Given the description of an element on the screen output the (x, y) to click on. 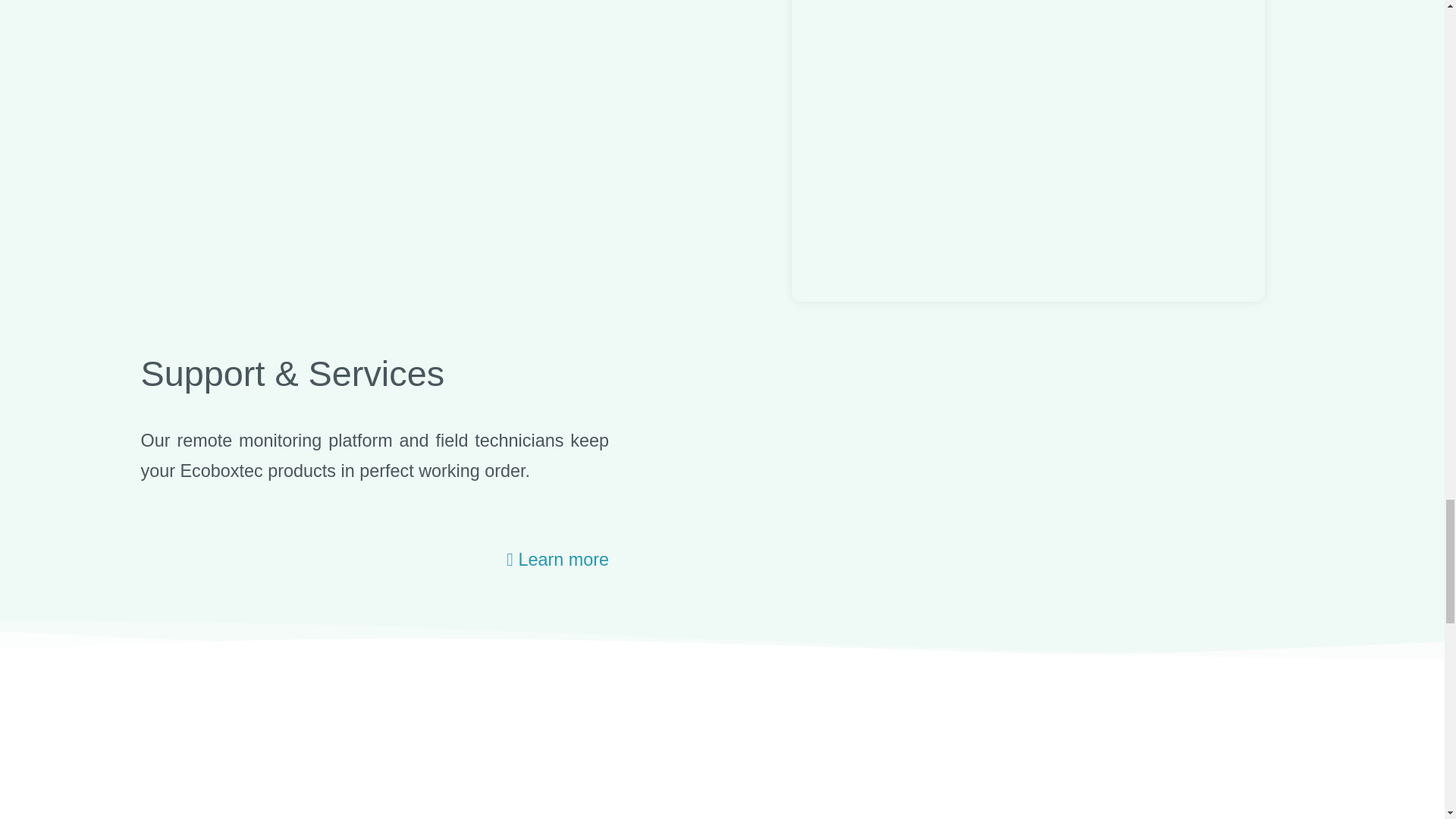
About Ecoboxtec (173, 558)
News (173, 621)
Website by WDA (708, 794)
Work with us (173, 590)
Contact (173, 653)
Home (173, 527)
Instagram (449, 592)
Submit (891, 668)
Reverse Vending Machine (347, 527)
Linkedin-in (472, 592)
